Given the description of an element on the screen output the (x, y) to click on. 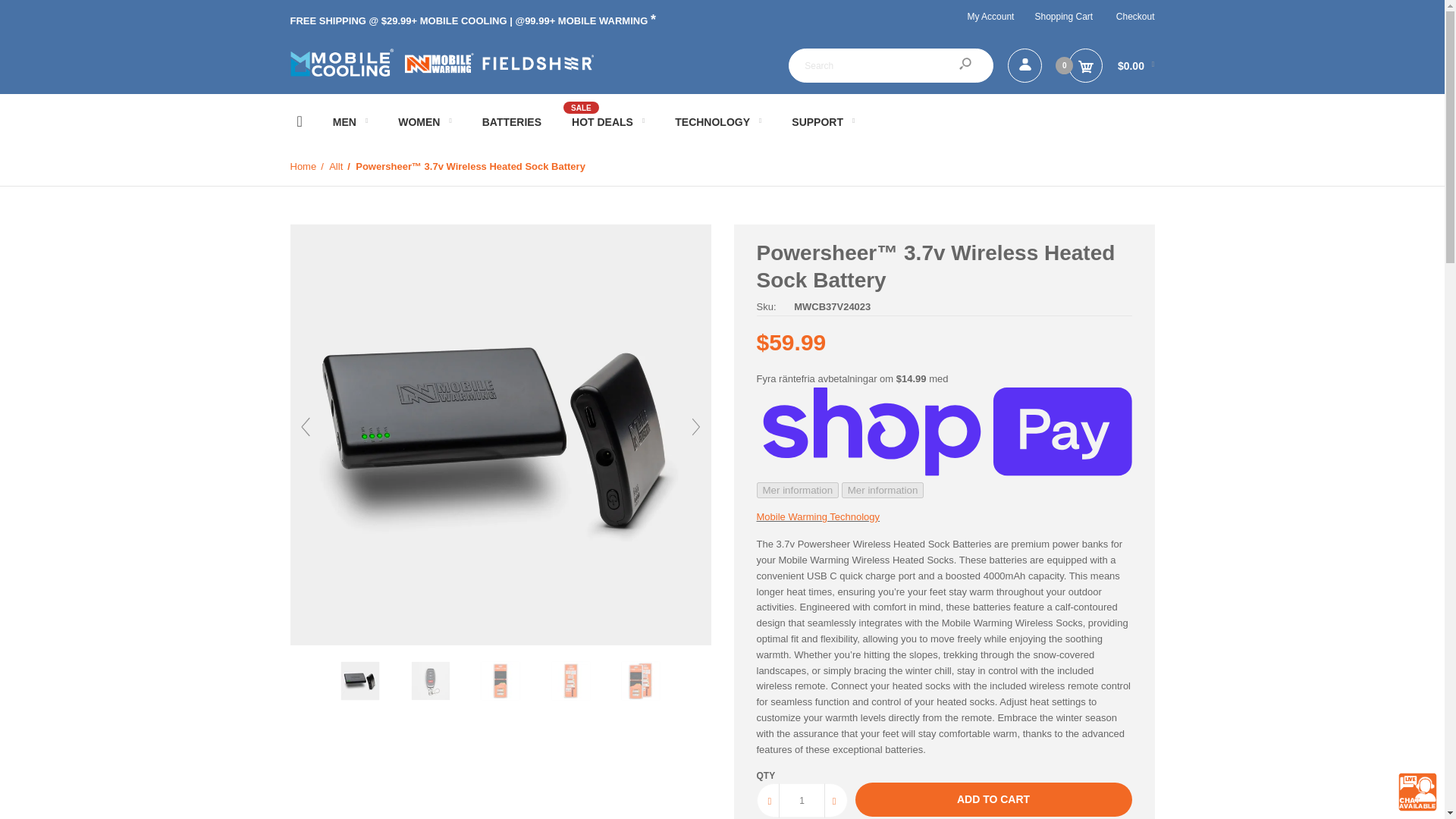
1 (802, 799)
Fieldsheer (440, 62)
Add to cart (994, 799)
Fieldsheer (440, 72)
